Given the description of an element on the screen output the (x, y) to click on. 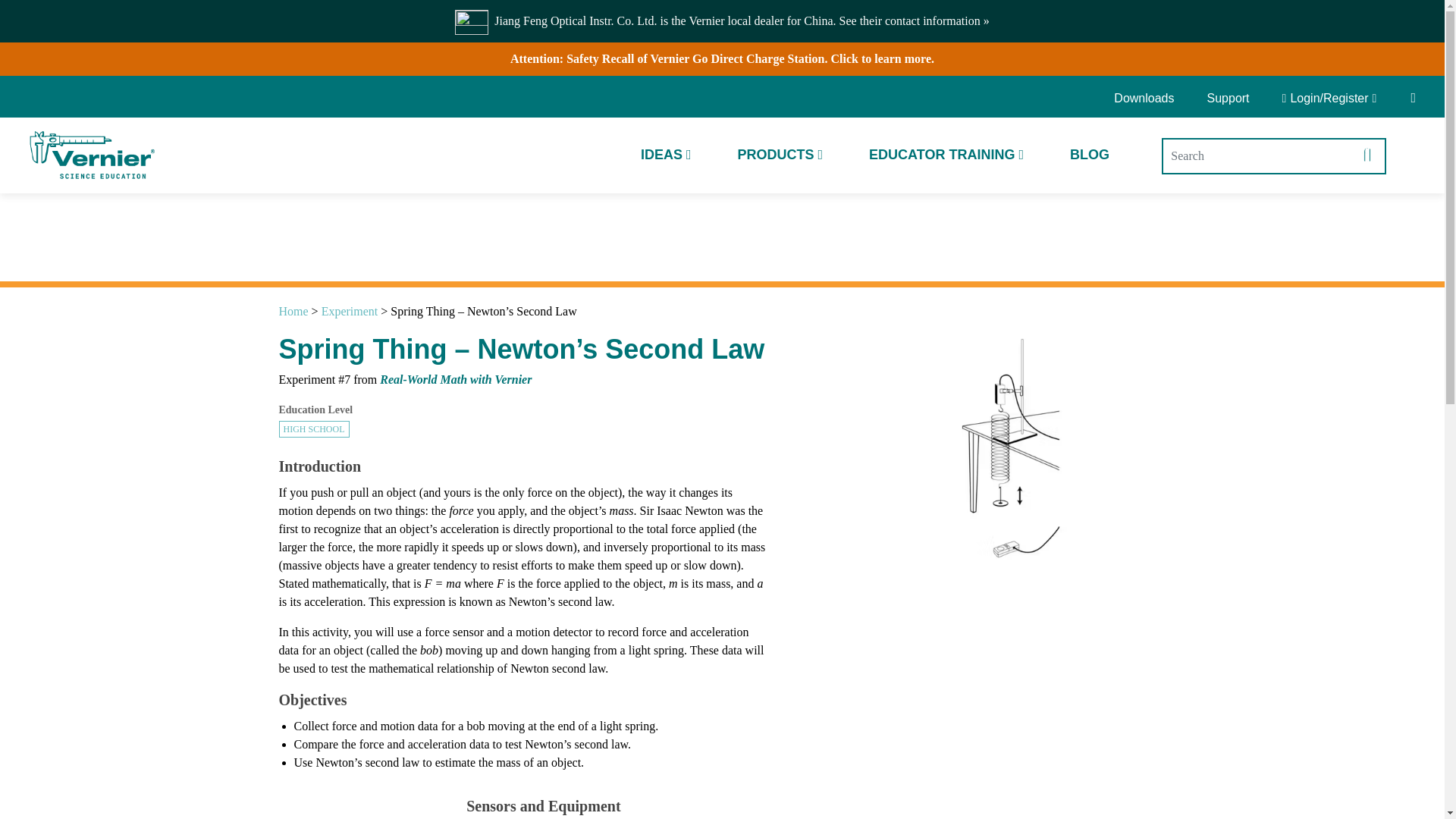
Downloads (1149, 98)
Support (1227, 98)
IDEAS (665, 154)
PRODUCTS (779, 154)
Vernier (90, 155)
